Given the description of an element on the screen output the (x, y) to click on. 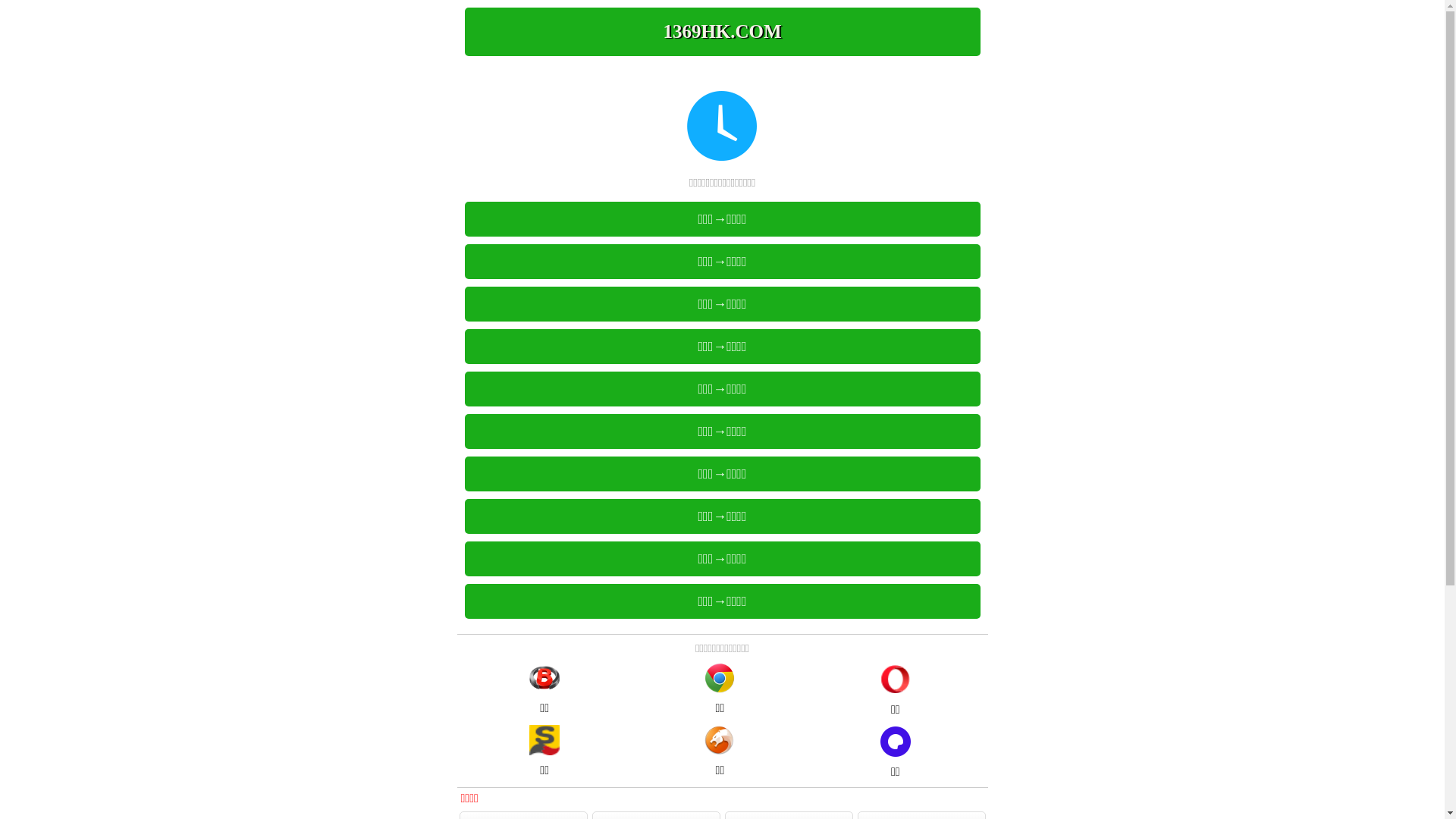
1369HK.COM Element type: text (721, 31)
